Given the description of an element on the screen output the (x, y) to click on. 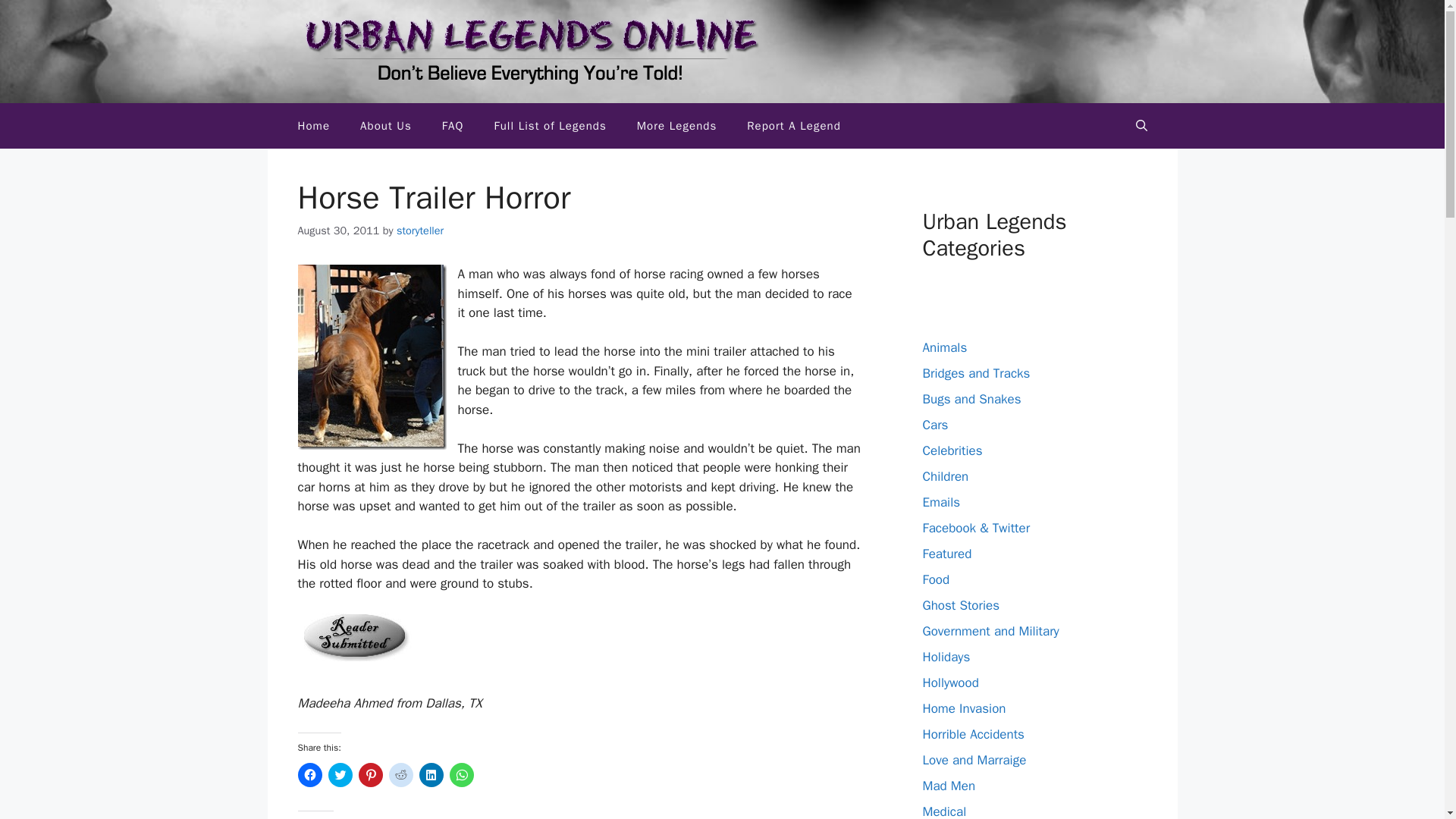
Scary Urban Legends, Myths and Hoaxes   (313, 125)
Government and Military (989, 631)
Bugs and Snakes (970, 399)
Hollywood (949, 682)
Animals (943, 347)
Emails (940, 502)
Featured (946, 553)
Full List of Legends (550, 125)
Click to share on WhatsApp (460, 774)
Children (944, 476)
